Given the description of an element on the screen output the (x, y) to click on. 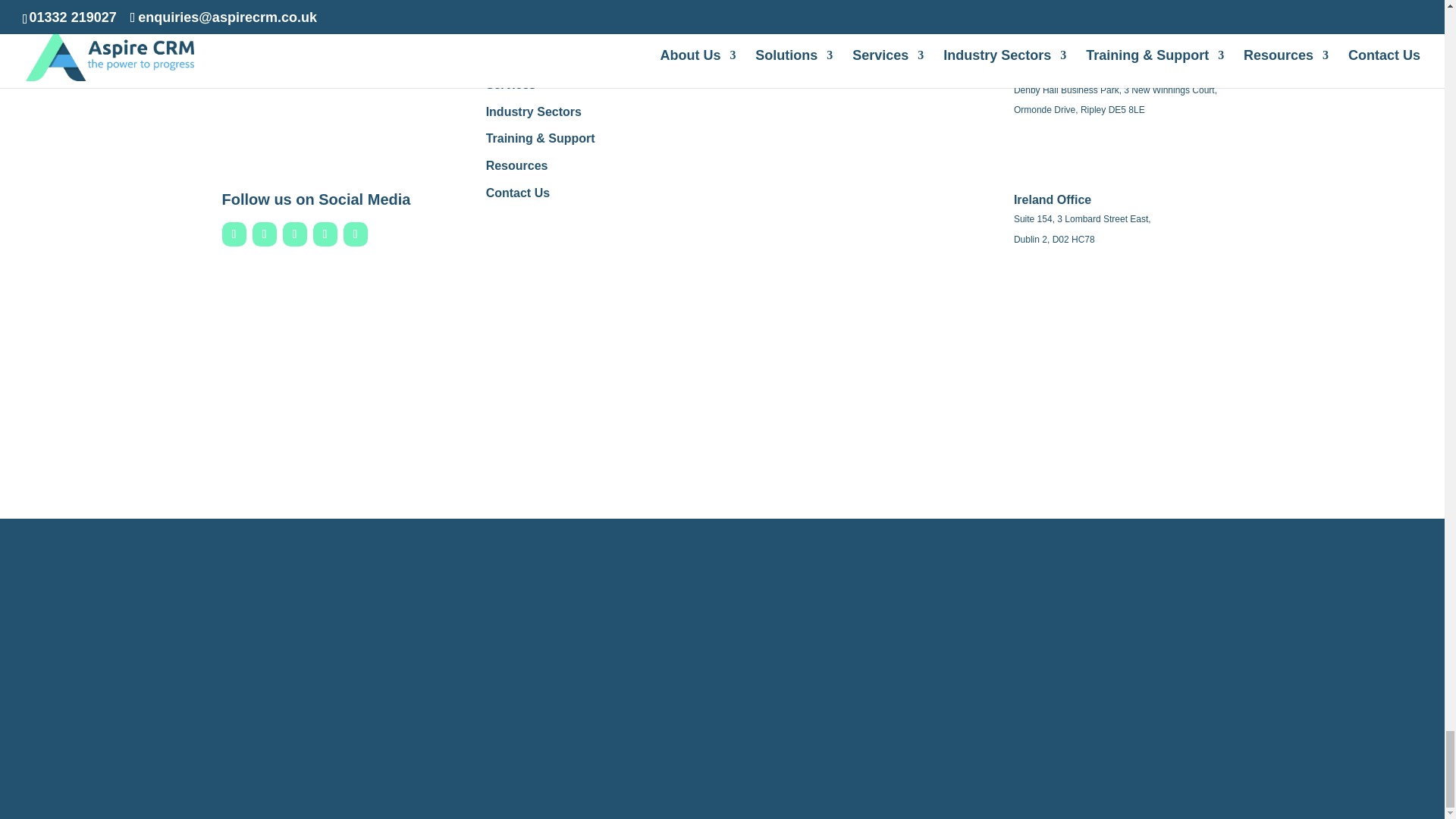
Services (510, 83)
Follow on TikTok (354, 233)
About Us (513, 30)
Solutions (513, 57)
Industry Sectors (533, 111)
Follow on Youtube (324, 233)
Contact Us (518, 192)
Follow on Facebook (233, 233)
Follow on Instagram (293, 233)
Resources (517, 164)
Follow on LinkedIn (263, 233)
